Given the description of an element on the screen output the (x, y) to click on. 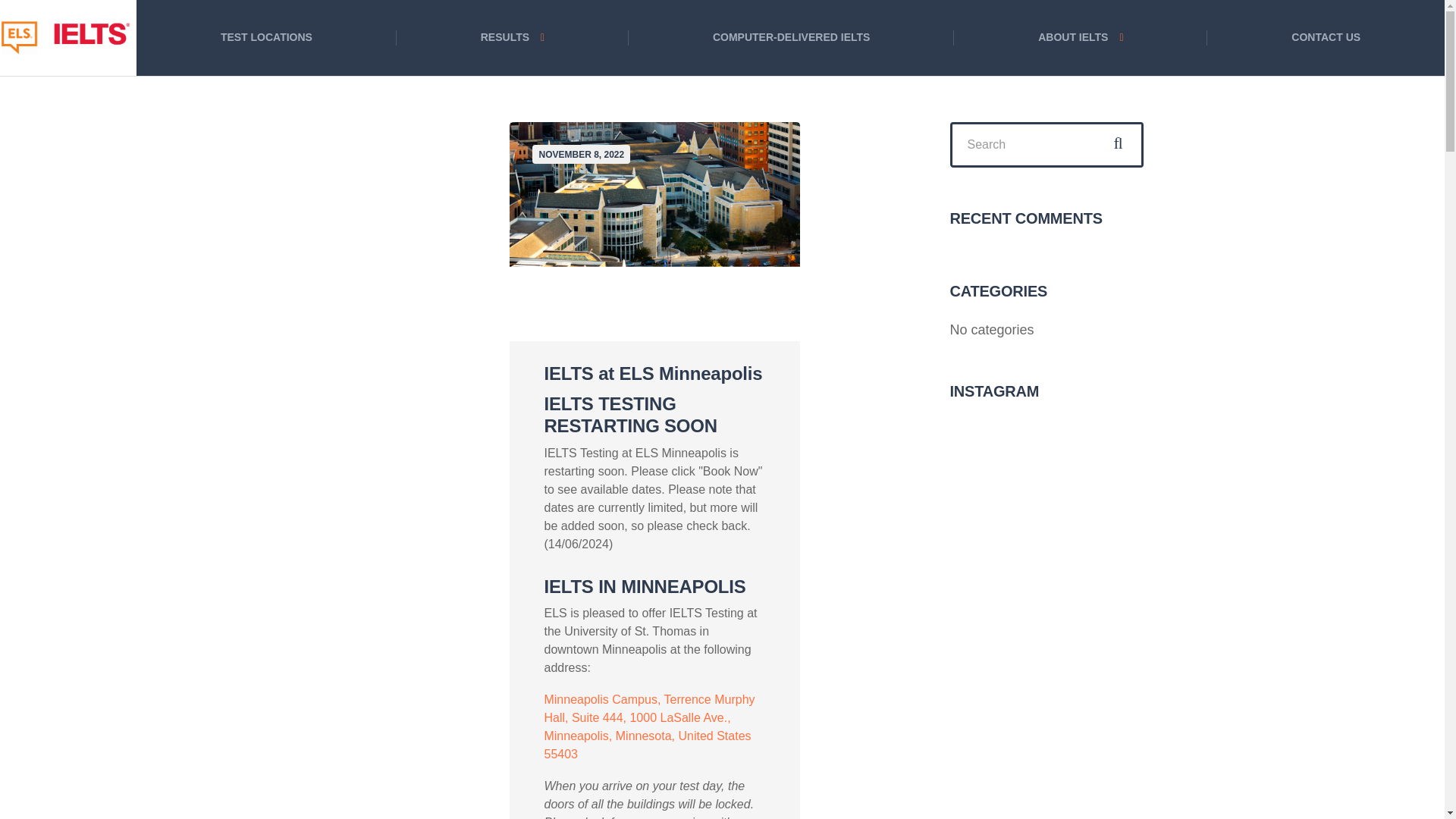
COMPUTER-DELIVERED IELTS (790, 38)
TEST LOCATIONS (266, 38)
ABOUT IELTS (1080, 38)
RESULTS (512, 38)
IELTS at ELS Minneapolis (652, 373)
